Given the description of an element on the screen output the (x, y) to click on. 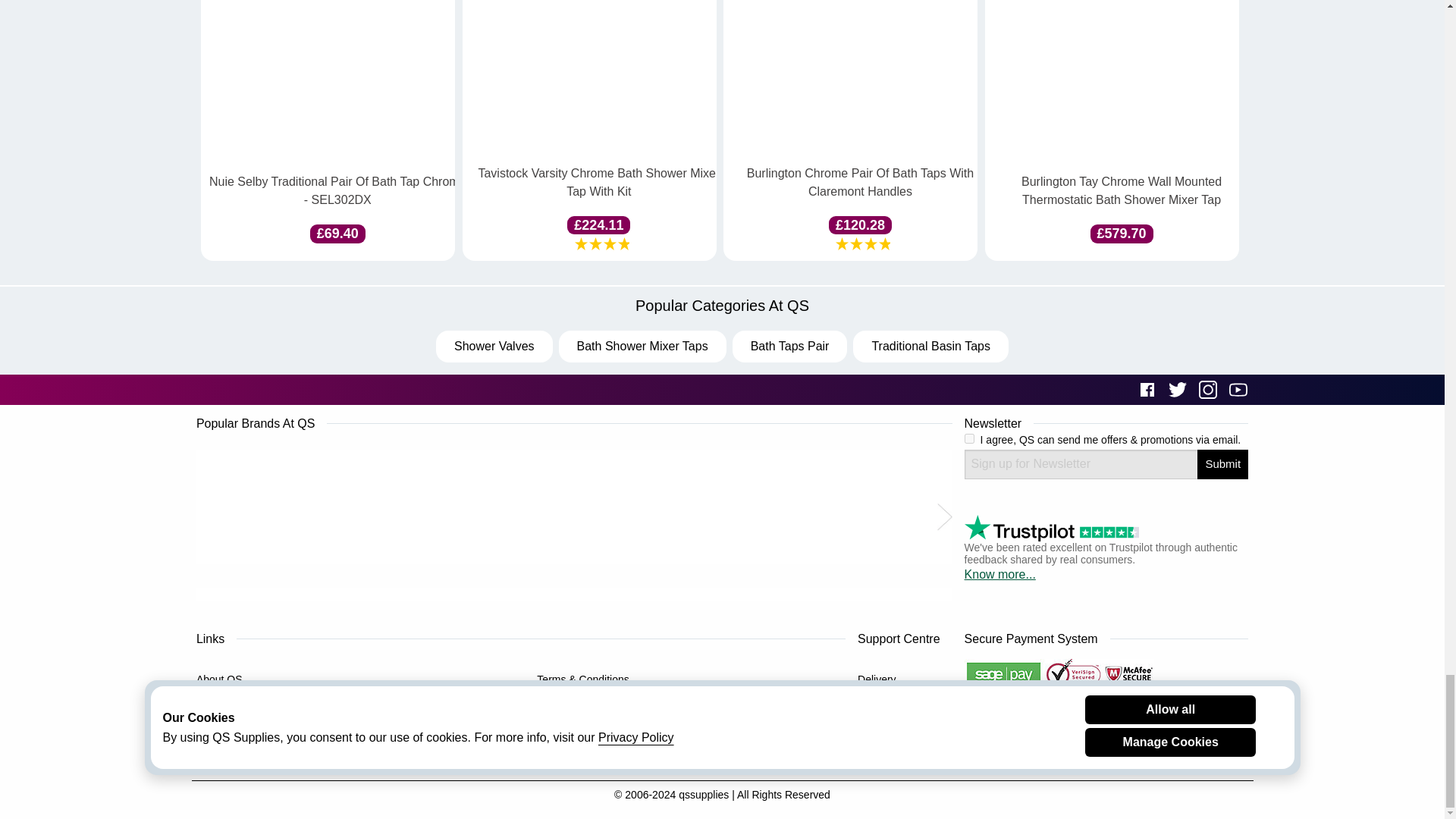
on (968, 438)
